Given the description of an element on the screen output the (x, y) to click on. 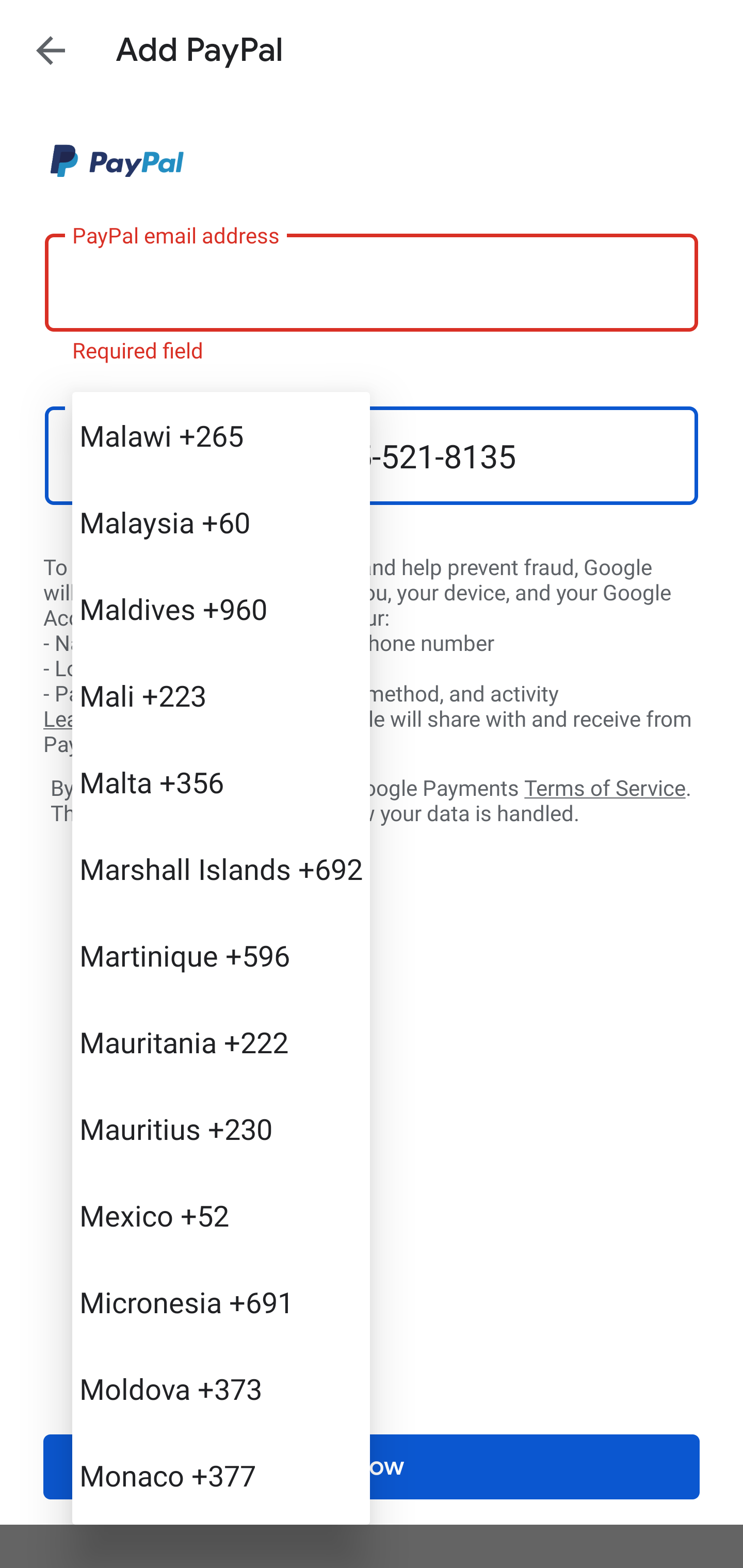
Malawi +265 (221, 435)
Malaysia +60 (221, 522)
Maldives +960 (221, 609)
Mali +223 (221, 695)
Malta +356 (221, 781)
Marshall Islands +692 (221, 868)
Martinique +596 (221, 955)
Mauritania +222 (221, 1041)
Mauritius +230 (221, 1128)
Mexico +52 (221, 1215)
Micronesia +691 (221, 1302)
Moldova +373 (221, 1388)
Monaco +377 (221, 1474)
